Given the description of an element on the screen output the (x, y) to click on. 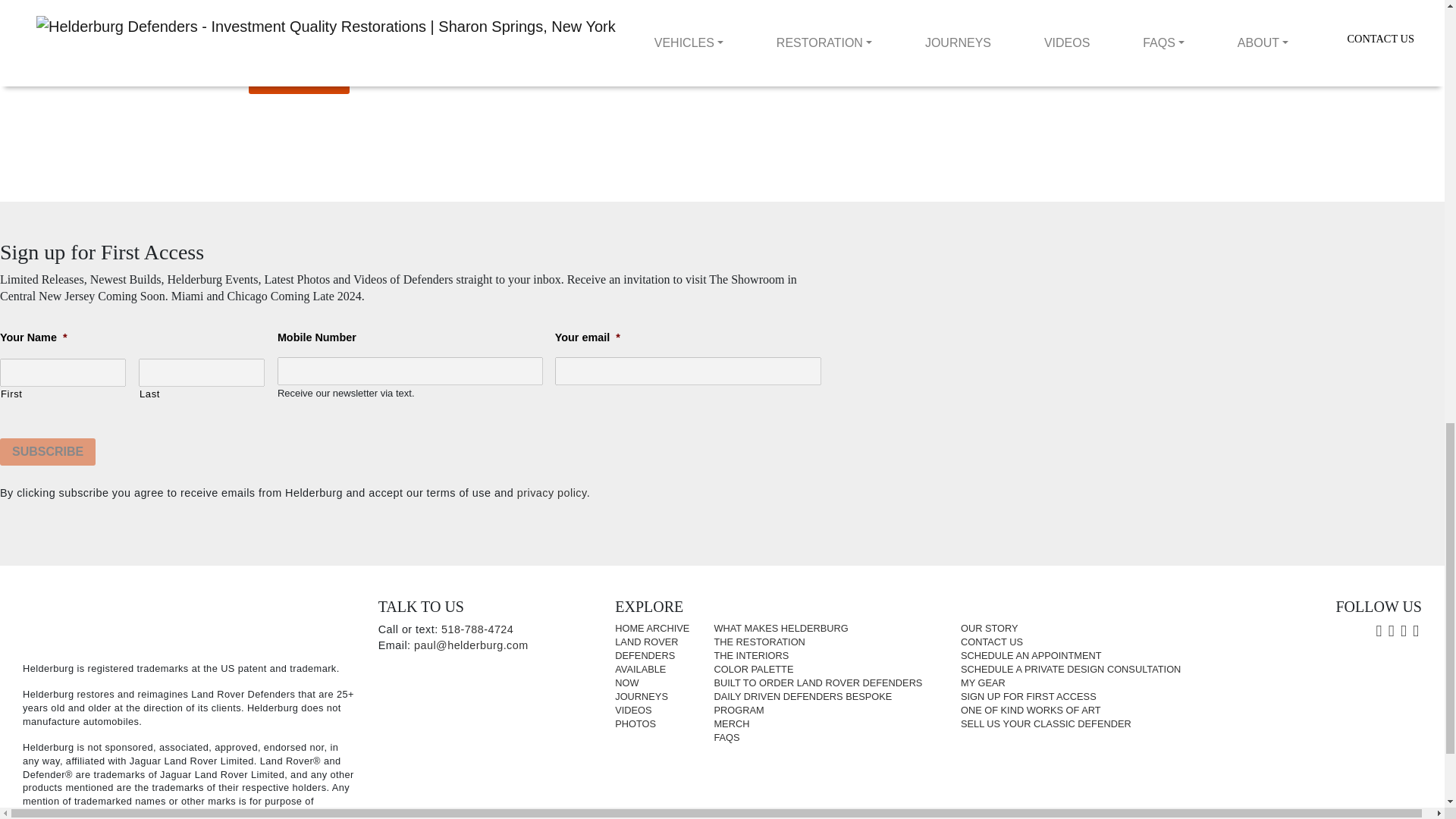
Subscribe (48, 452)
SEE DETAILS (299, 80)
Subscribe (48, 452)
privacy policy (551, 492)
